Given the description of an element on the screen output the (x, y) to click on. 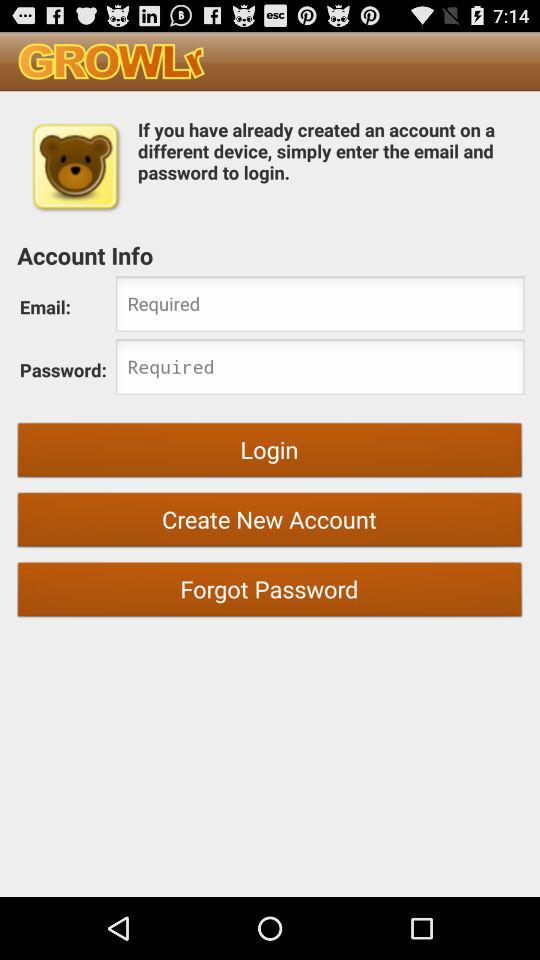
write email (319, 306)
